Given the description of an element on the screen output the (x, y) to click on. 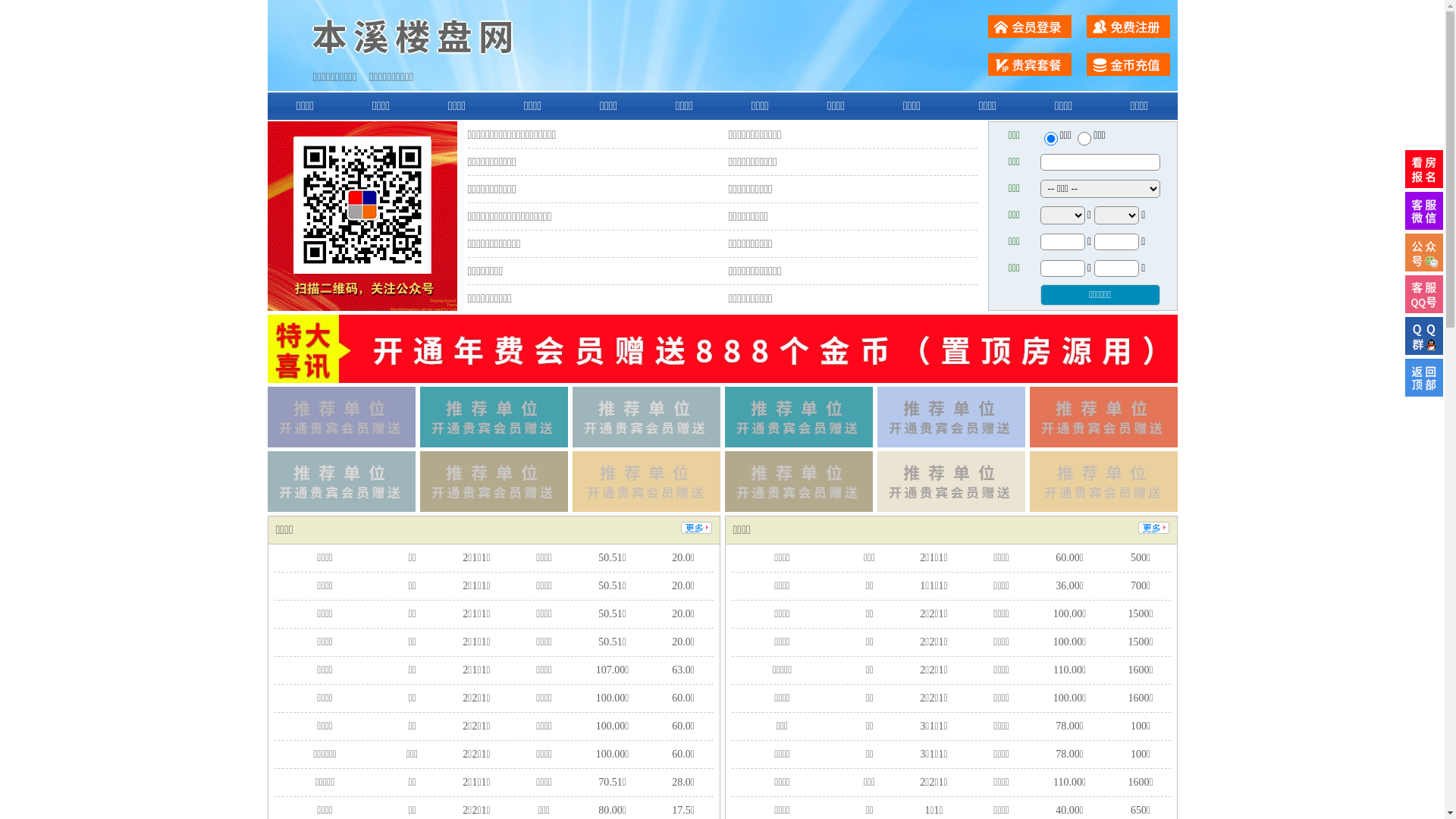
chuzu Element type: text (1084, 138)
ershou Element type: text (1050, 138)
